Given the description of an element on the screen output the (x, y) to click on. 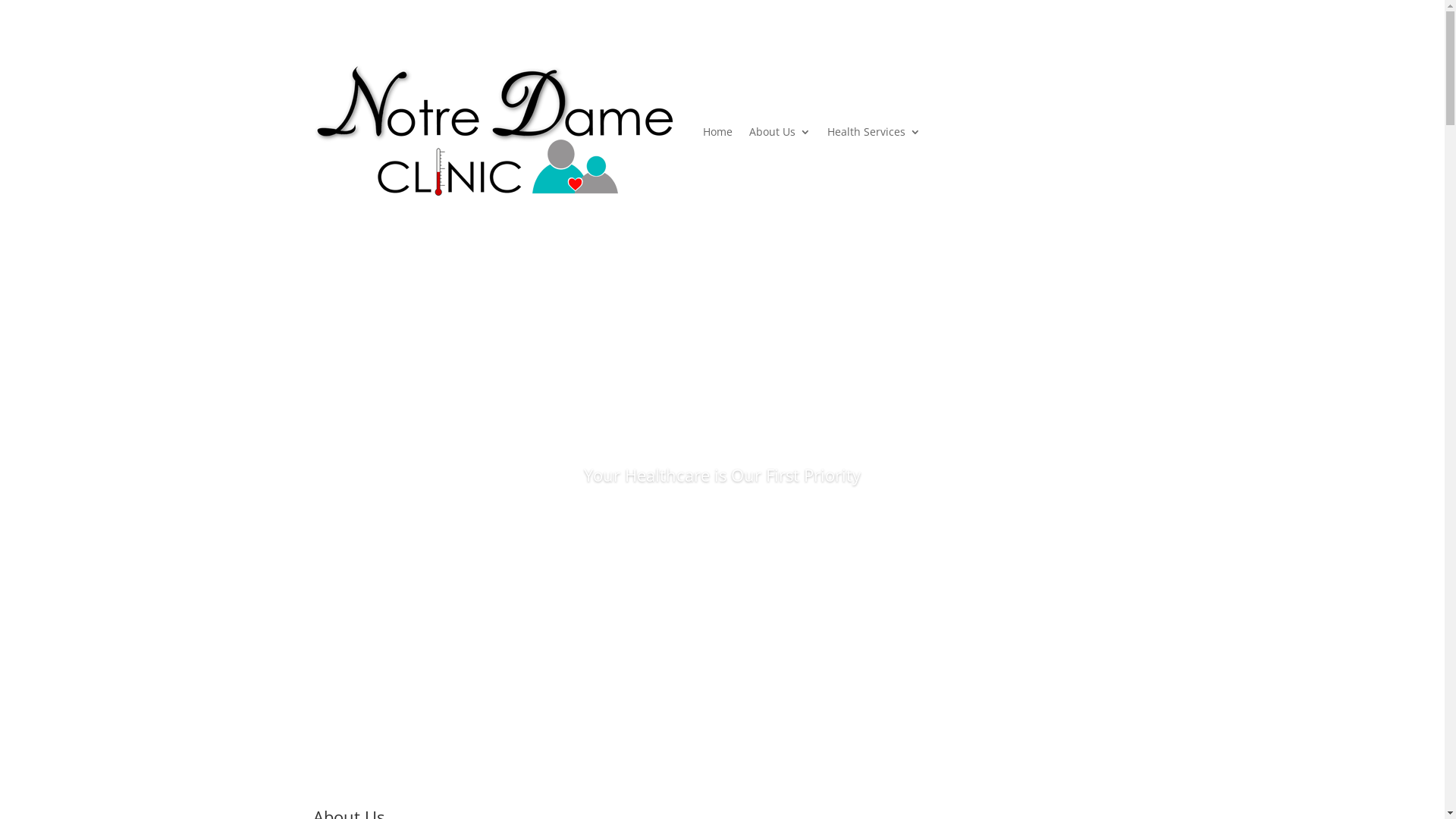
Health Services Element type: text (873, 131)
Home Element type: text (717, 131)
CONTACT US Element type: text (1038, 80)
BOOK AN APPOINTMENT Element type: text (722, 524)
About Us Element type: text (779, 131)
